Given the description of an element on the screen output the (x, y) to click on. 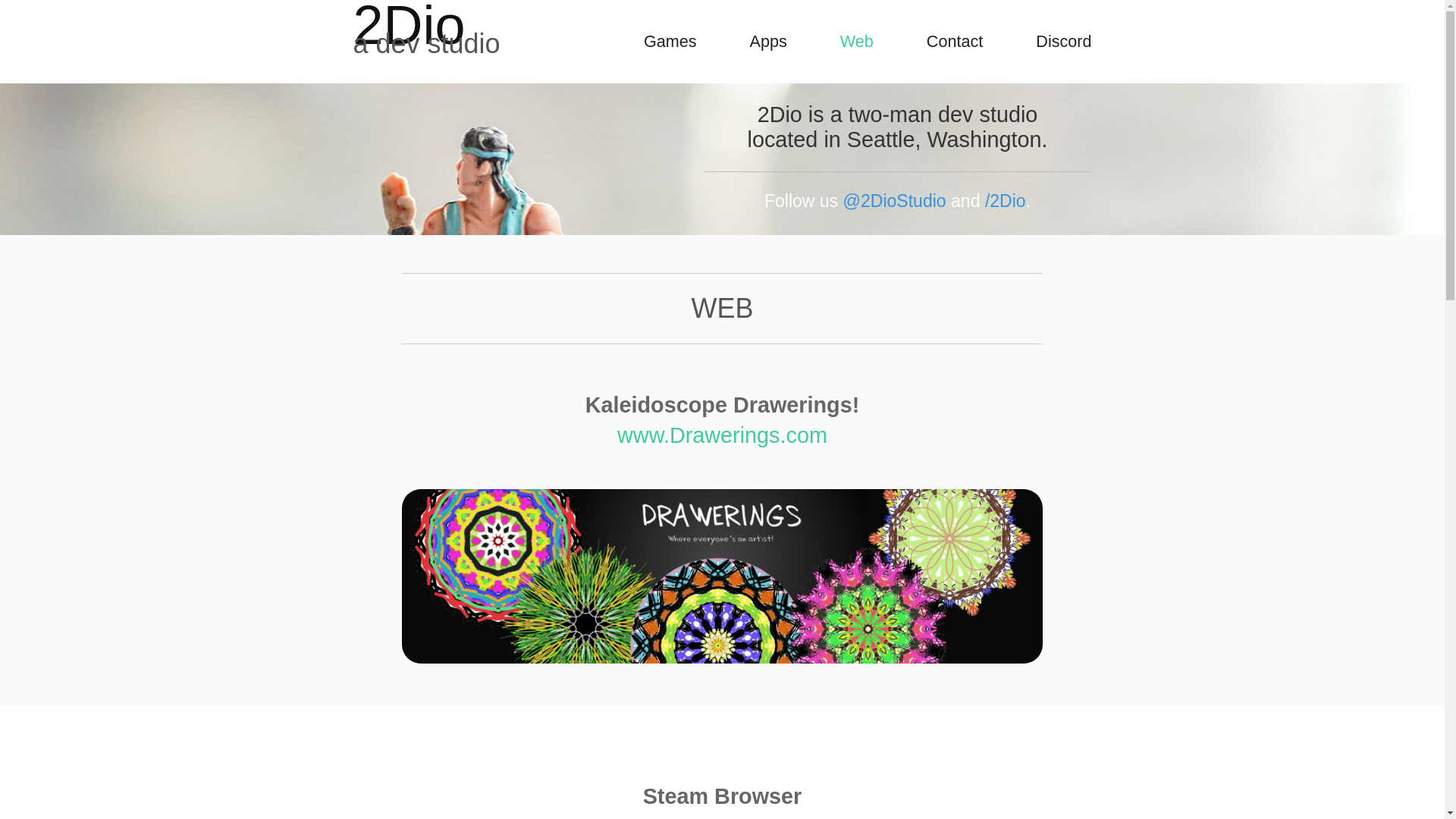
Apps Element type: text (768, 40)
www.Drawerings.com Element type: text (722, 435)
/2Dio Element type: text (1005, 200)
Web Element type: text (856, 40)
Games Element type: text (669, 40)
@2DioStudio Element type: text (894, 200)
Discord Element type: text (1063, 40)
Contact Element type: text (954, 40)
